Given the description of an element on the screen output the (x, y) to click on. 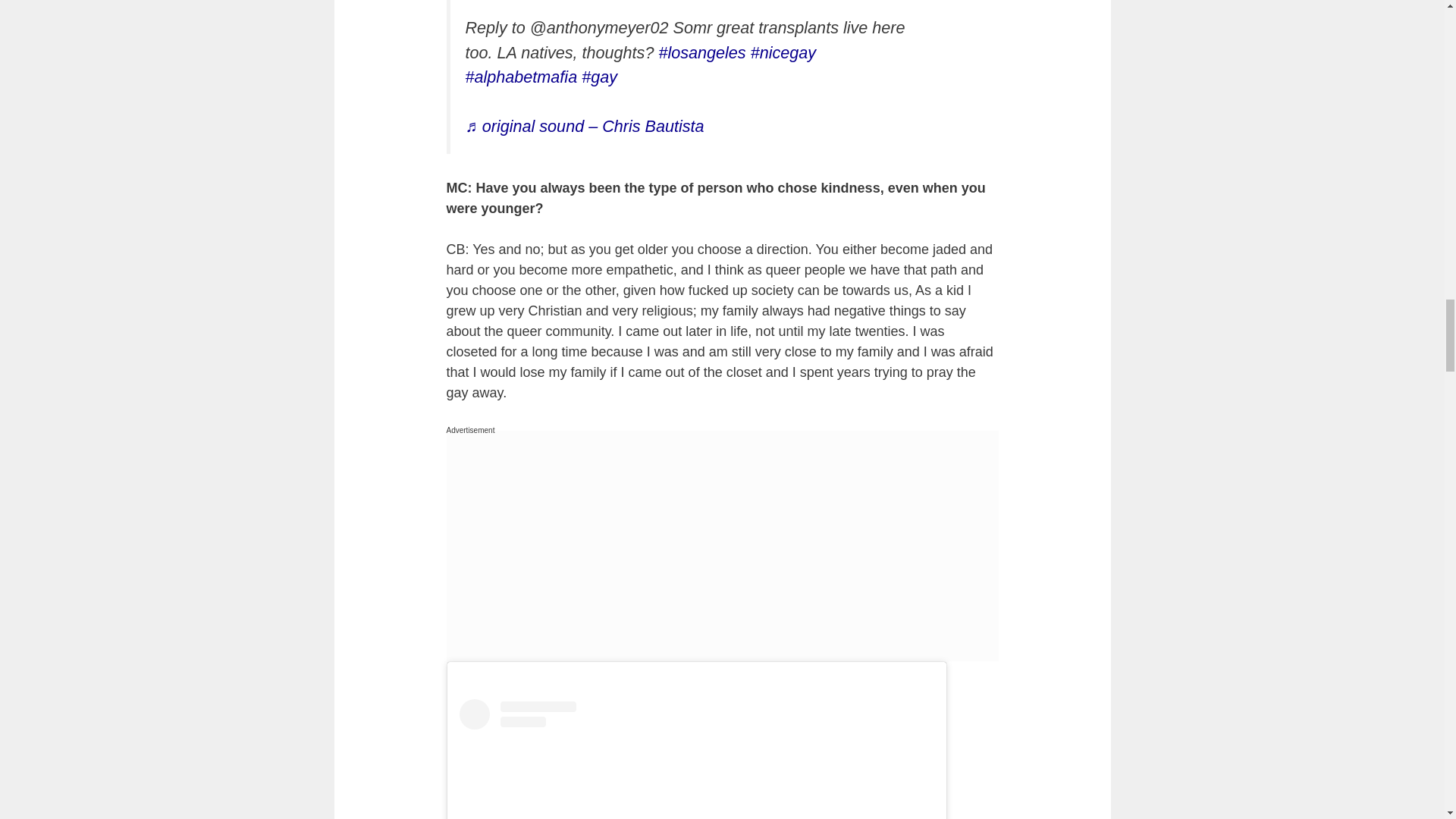
alphabetmafia (521, 76)
losangeles (701, 52)
nicegay (783, 52)
gay (598, 76)
